Given the description of an element on the screen output the (x, y) to click on. 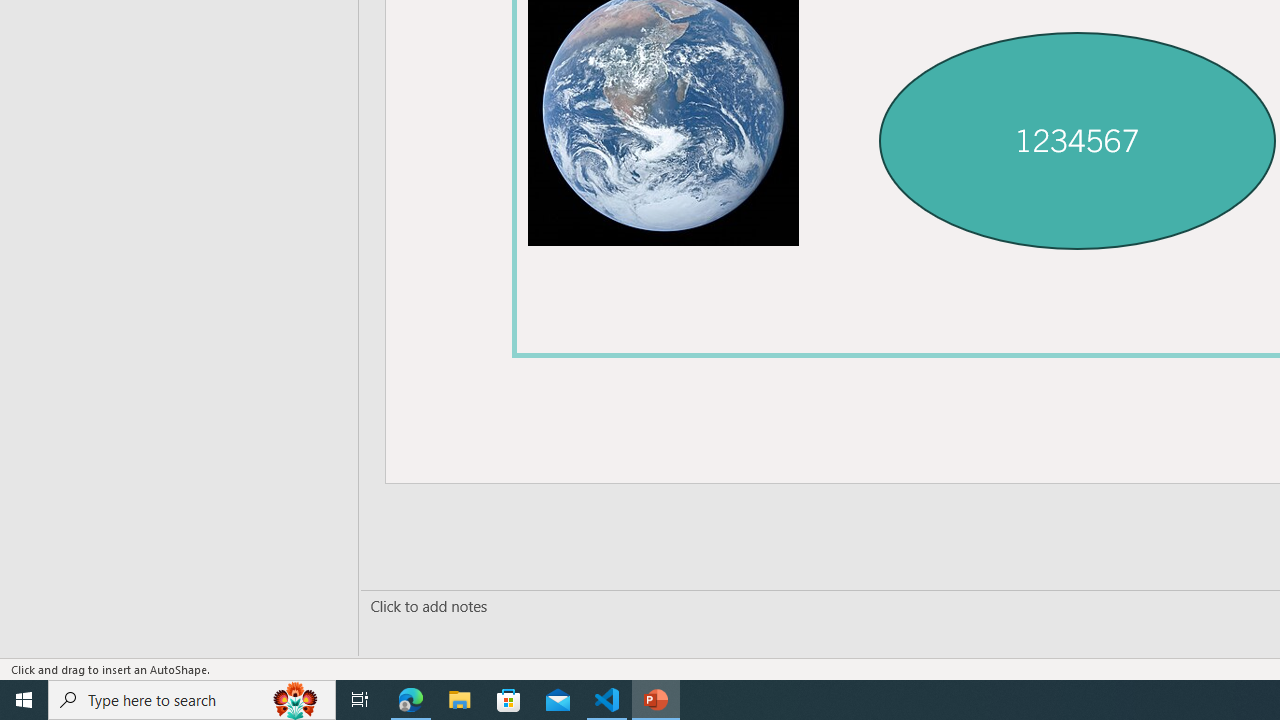
Microsoft Edge - 1 running window (411, 699)
